Given the description of an element on the screen output the (x, y) to click on. 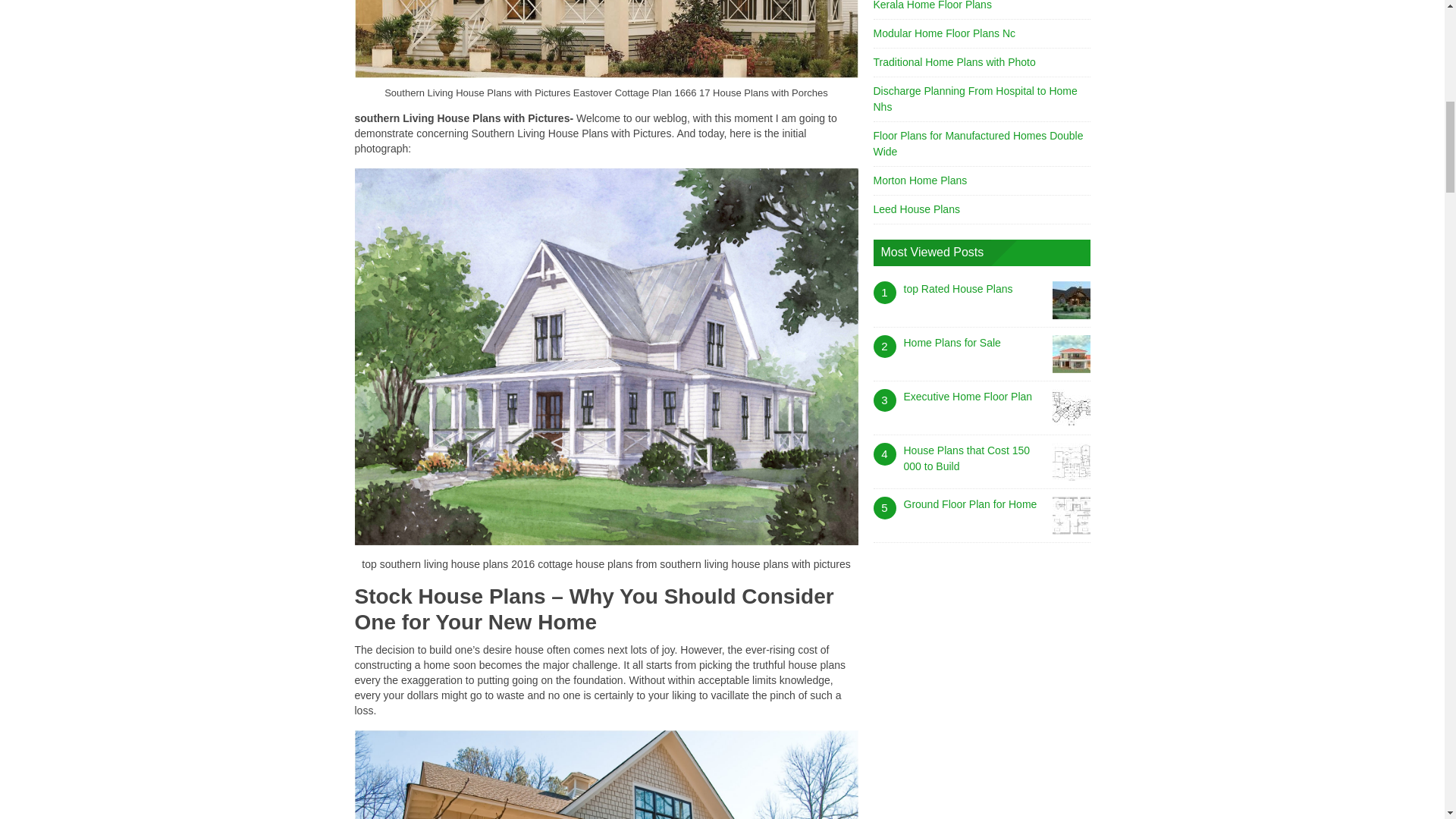
southern living small house plans cottage house plans (607, 774)
